Given the description of an element on the screen output the (x, y) to click on. 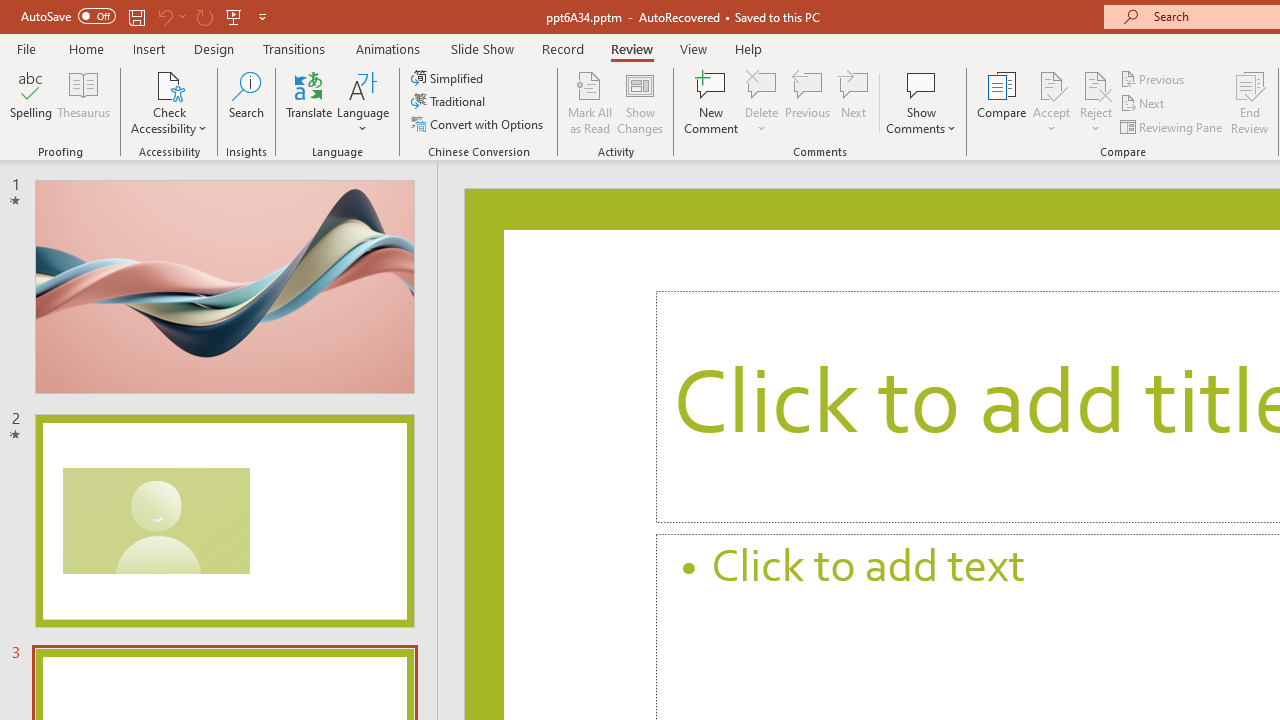
Compare (1002, 102)
Next (1144, 103)
Reject Change (1096, 84)
Show Comments (921, 102)
Reject (1096, 102)
Delete (762, 102)
Convert with Options... (479, 124)
